Given the description of an element on the screen output the (x, y) to click on. 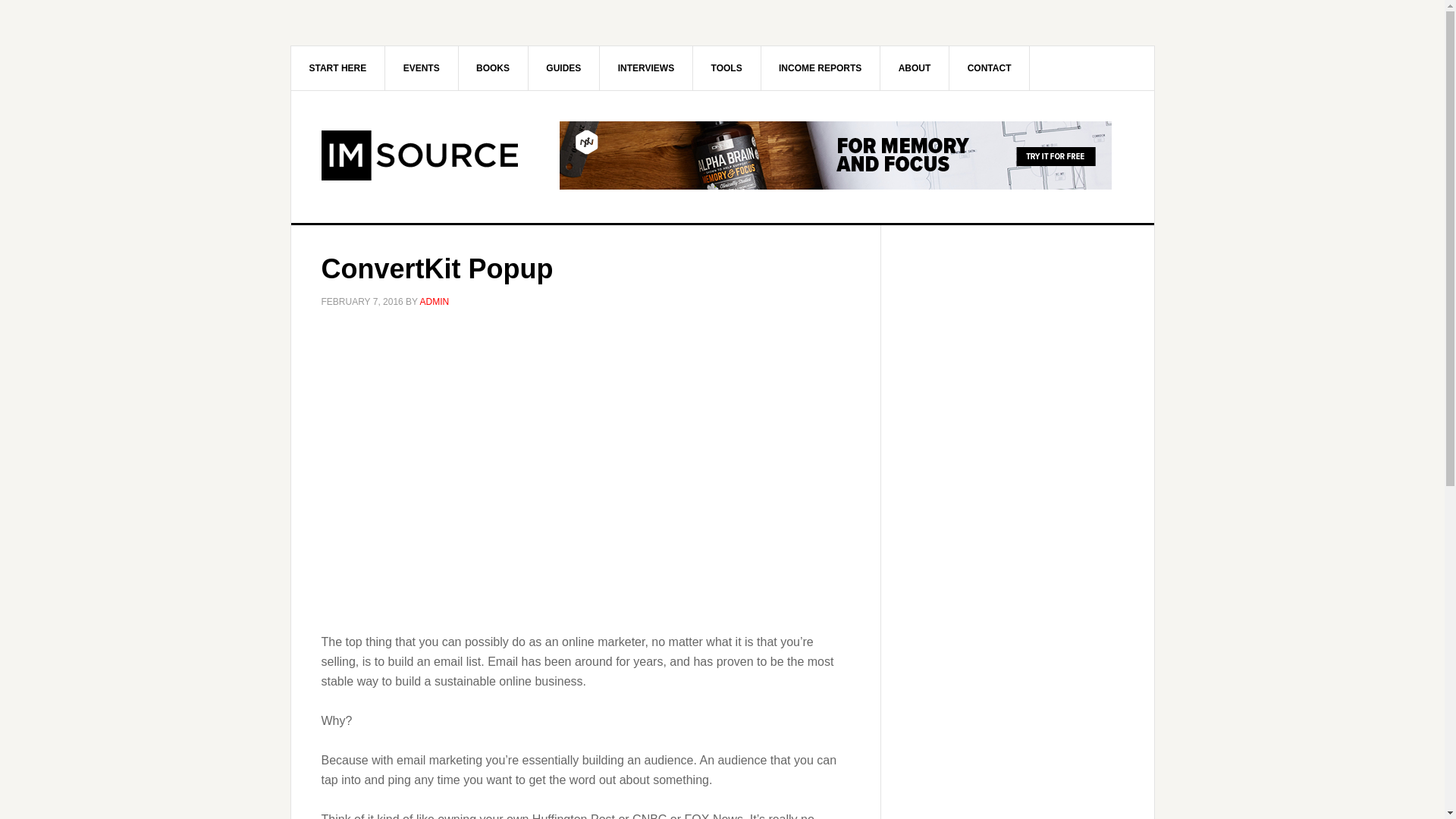
EVENTS (421, 67)
INCOME REPORTS (820, 67)
ADMIN (434, 301)
IMSOURCE (419, 155)
START HERE (338, 67)
ABOUT (915, 67)
INTERVIEWS (646, 67)
GUIDES (563, 67)
CONTACT (989, 67)
TOOLS (727, 67)
BOOKS (493, 67)
